Given the description of an element on the screen output the (x, y) to click on. 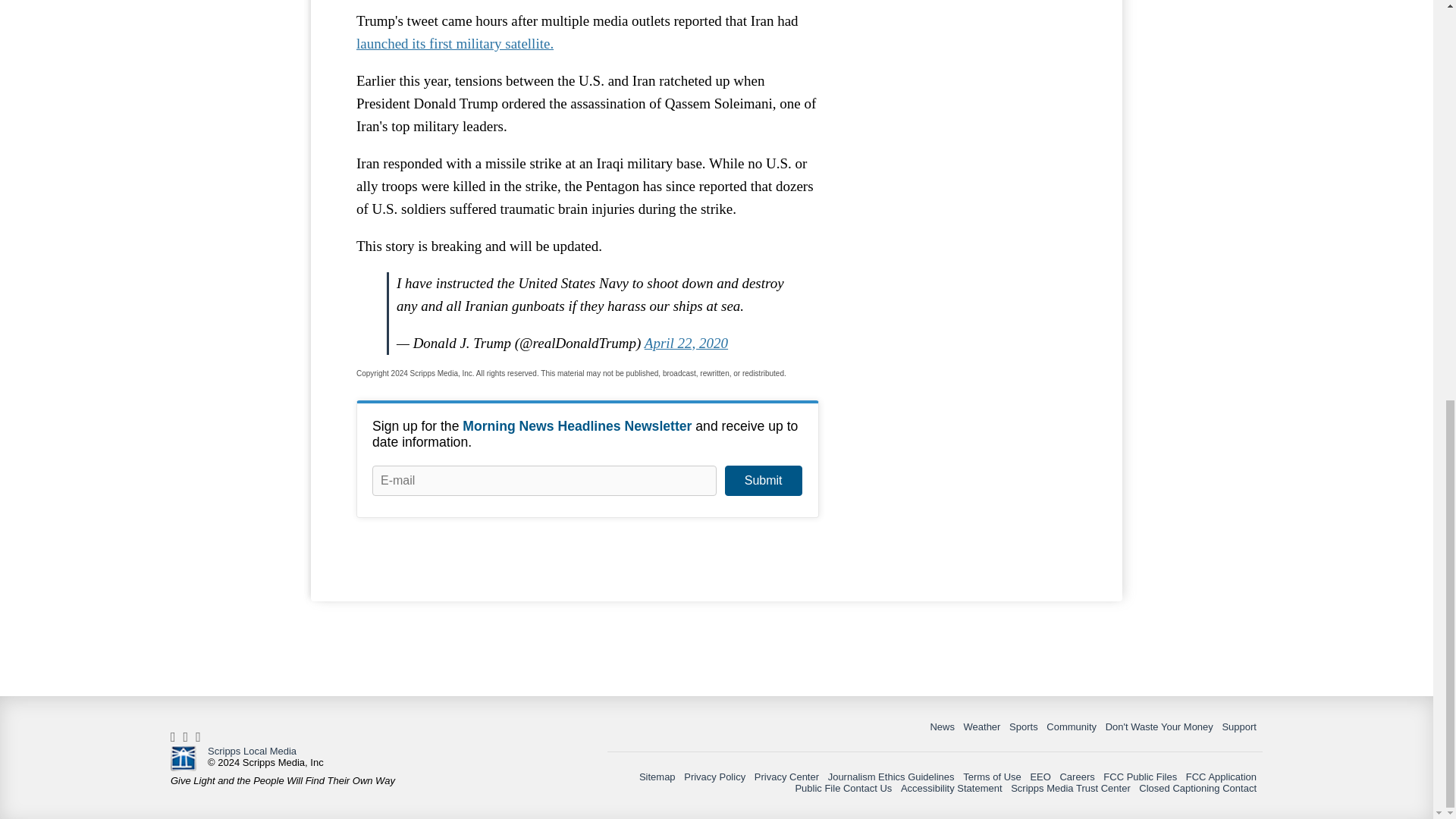
Submit (763, 481)
